Given the description of an element on the screen output the (x, y) to click on. 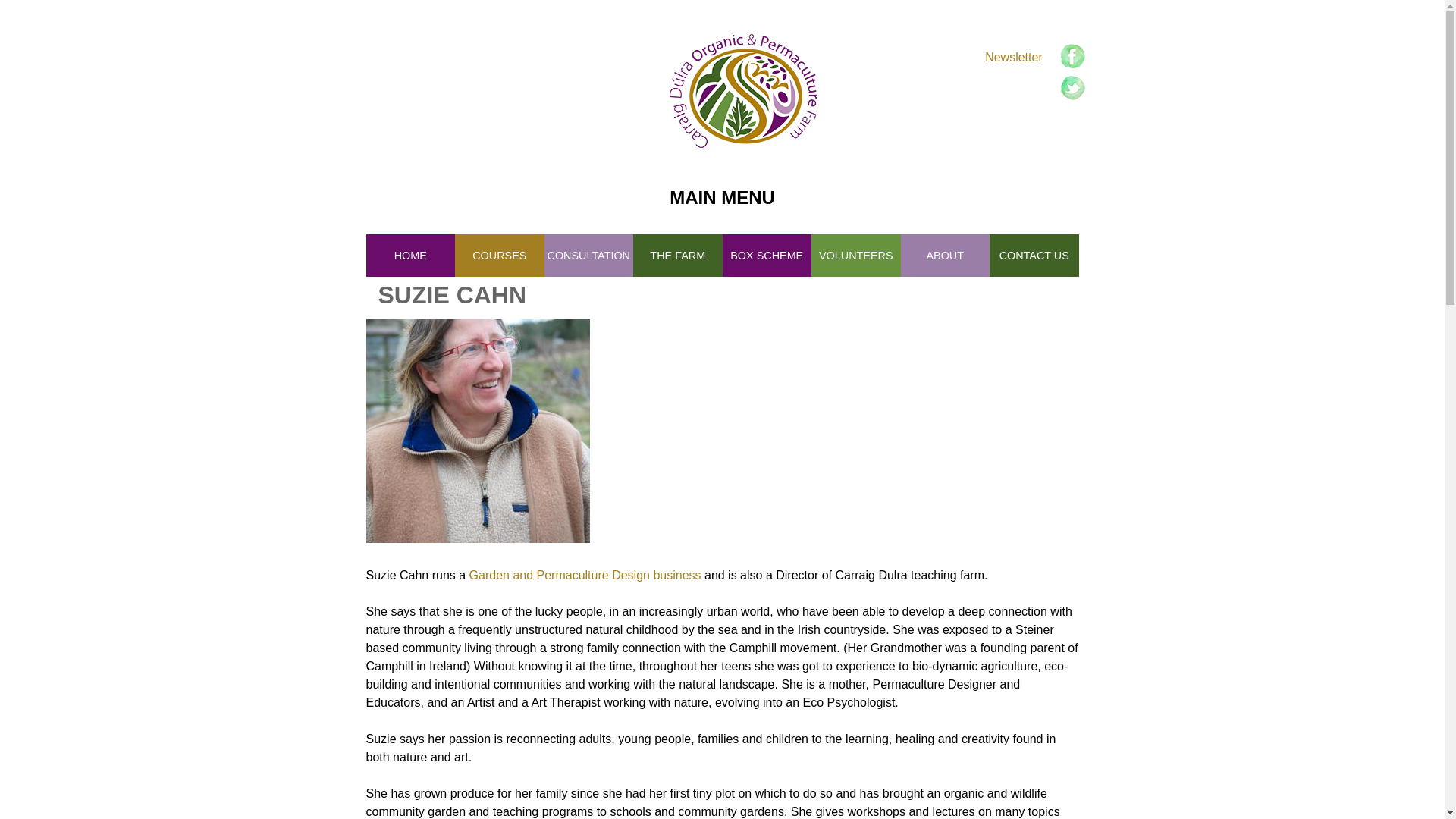
Garden and Permaculture Design business (584, 574)
THE FARM (677, 255)
CONSULTATION (588, 255)
VOLUNTEERS (855, 255)
HOME (409, 255)
Newsletter (1013, 56)
COURSES (499, 255)
BOX SCHEME (766, 255)
Home (741, 91)
CONTACT US (1034, 255)
